Given the description of an element on the screen output the (x, y) to click on. 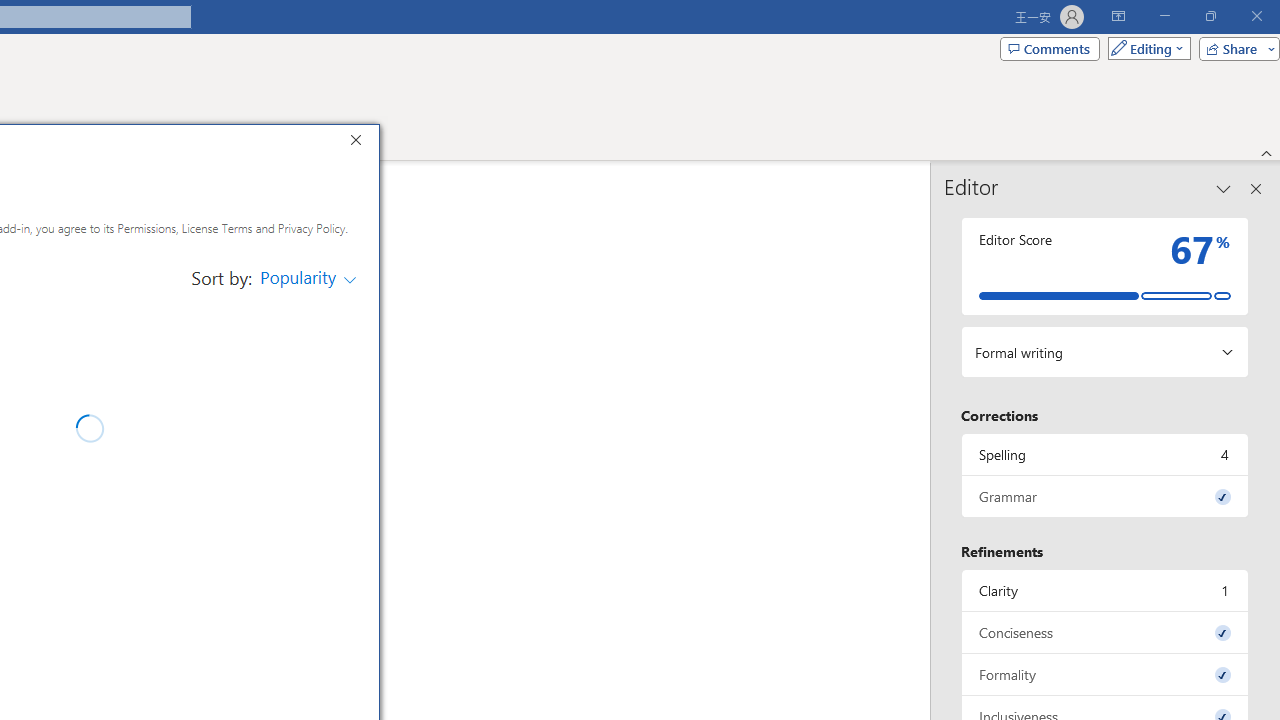
Add Mobile Data Collection - Scan-IT to Office (306, 649)
Add Script Lab, a Microsoft Garage project (306, 463)
Formality, 0 issues. Press space or enter to review items. (1105, 673)
Add Wikipedia (306, 566)
Grammar, 0 issues. Press space or enter to review items. (1105, 495)
Add Pickit | Make impactful presentations in minutes (306, 341)
Conciseness, 0 issues. Press space or enter to review items. (307, 277)
